Given the description of an element on the screen output the (x, y) to click on. 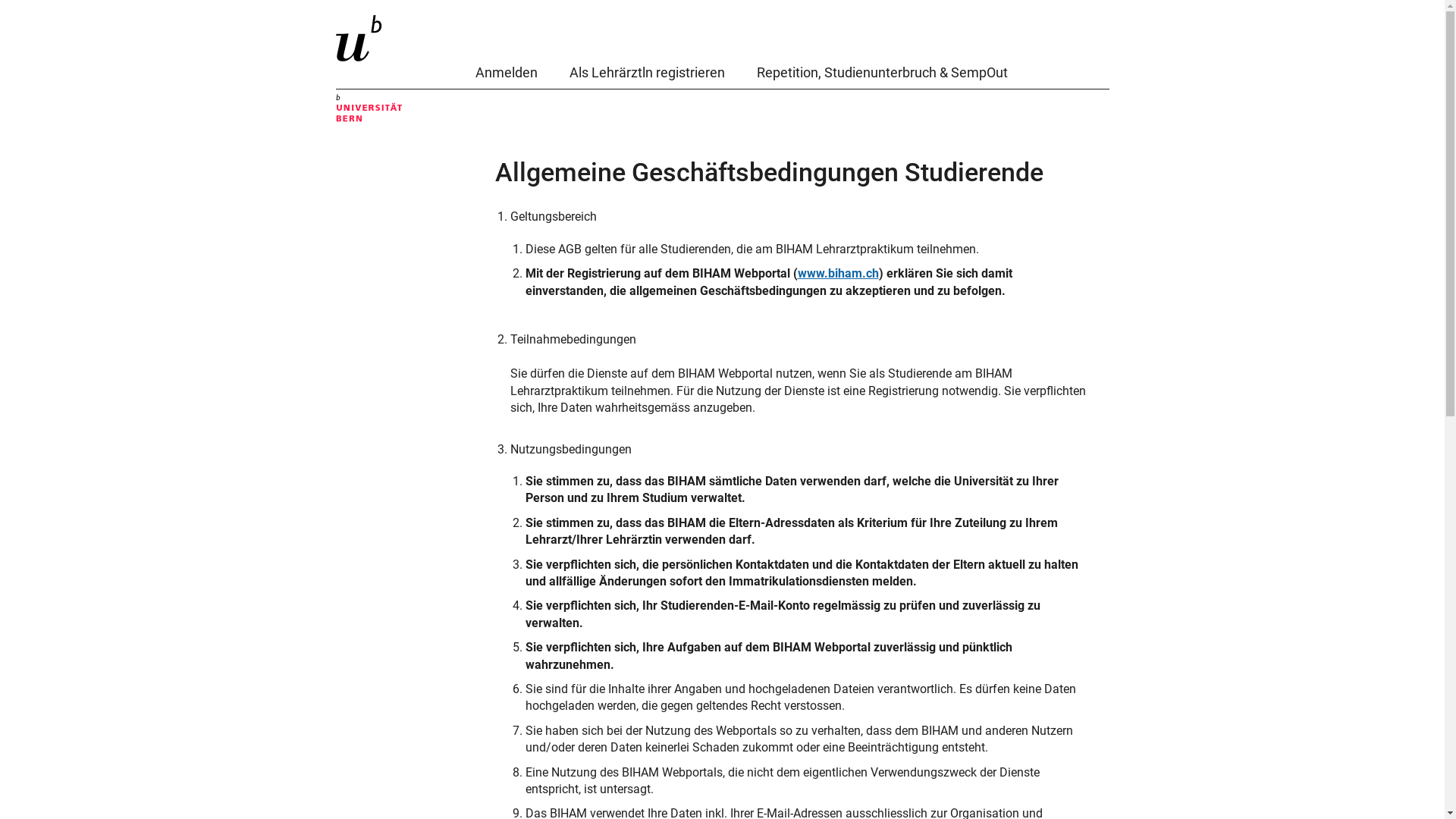
Repetition, Studienunterbruch & SempOut Element type: text (881, 75)
Direkt zum Inhalt Element type: text (0, 0)
www.biham.ch Element type: text (837, 273)
Anmelden Element type: text (505, 75)
